Given the description of an element on the screen output the (x, y) to click on. 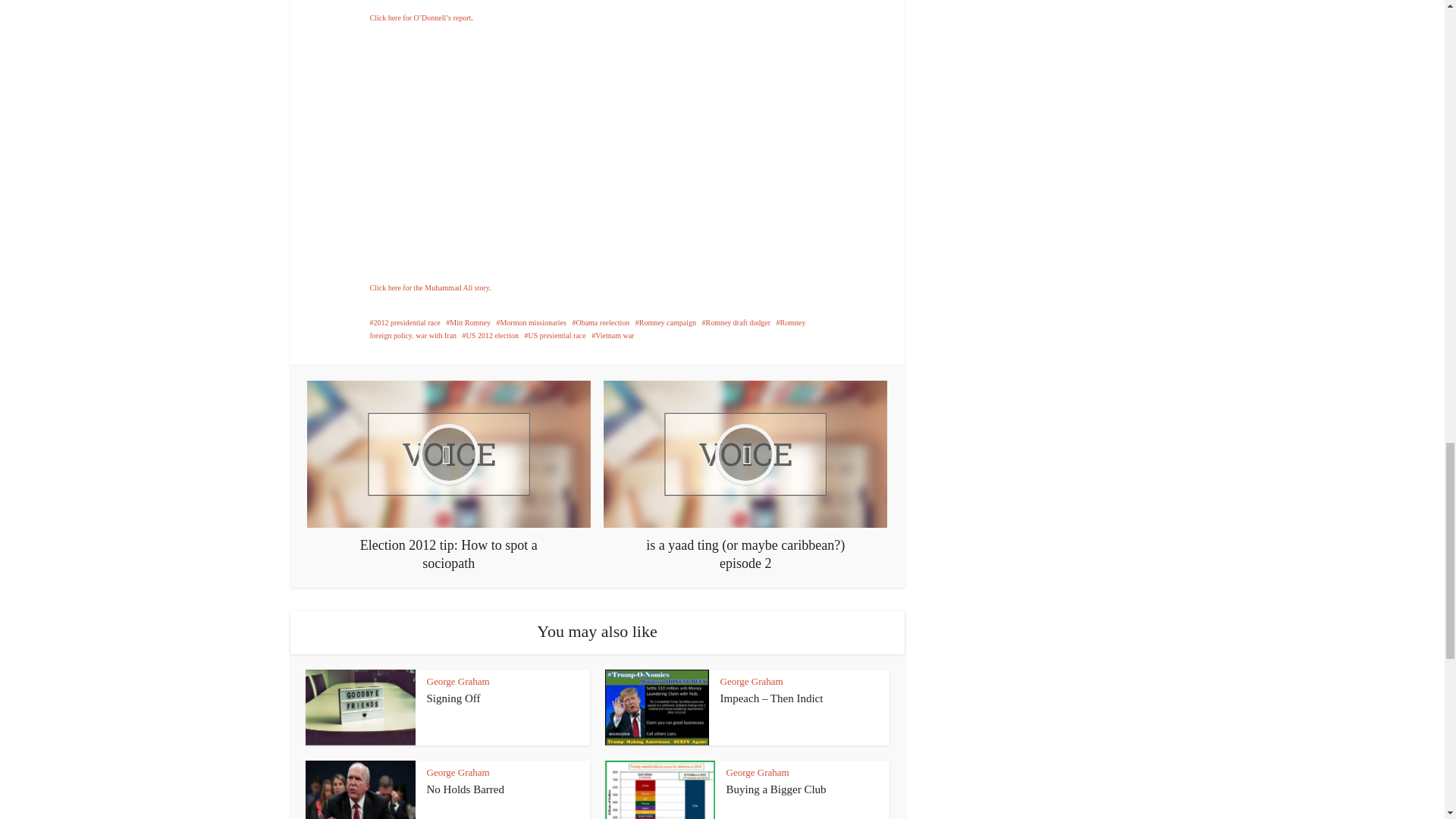
George Graham (457, 681)
Mitt Romney (467, 322)
Mormon missionaries (531, 322)
George Graham (751, 681)
US 2012 election (490, 335)
Click here for the Muhammad Ali story (429, 287)
US presiential race (555, 335)
Obama reelection (600, 322)
Election 2012 tip: How to spot a sociopath (449, 475)
Signing Off (453, 698)
